Given the description of an element on the screen output the (x, y) to click on. 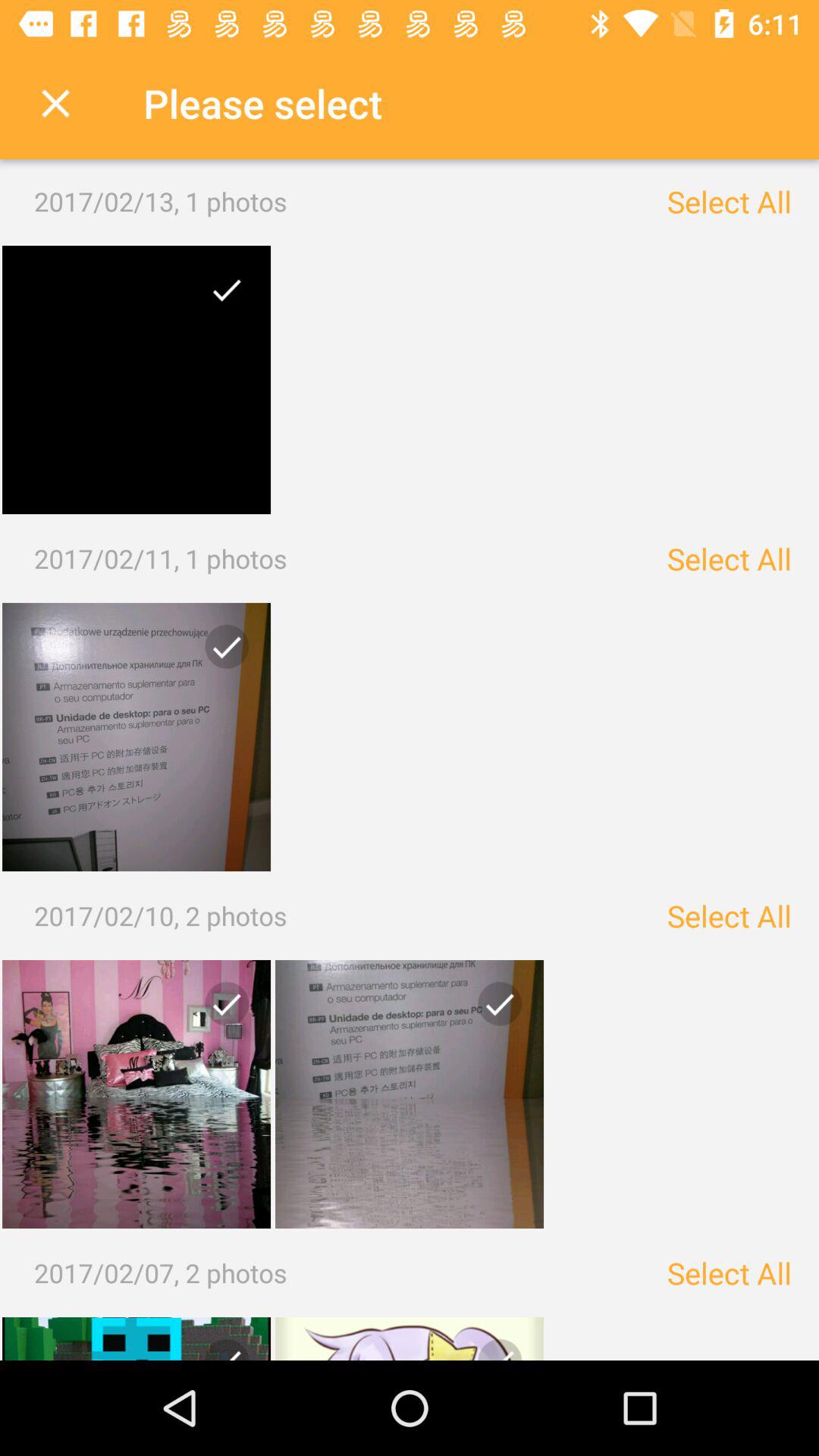
share it online (493, 1009)
